Given the description of an element on the screen output the (x, y) to click on. 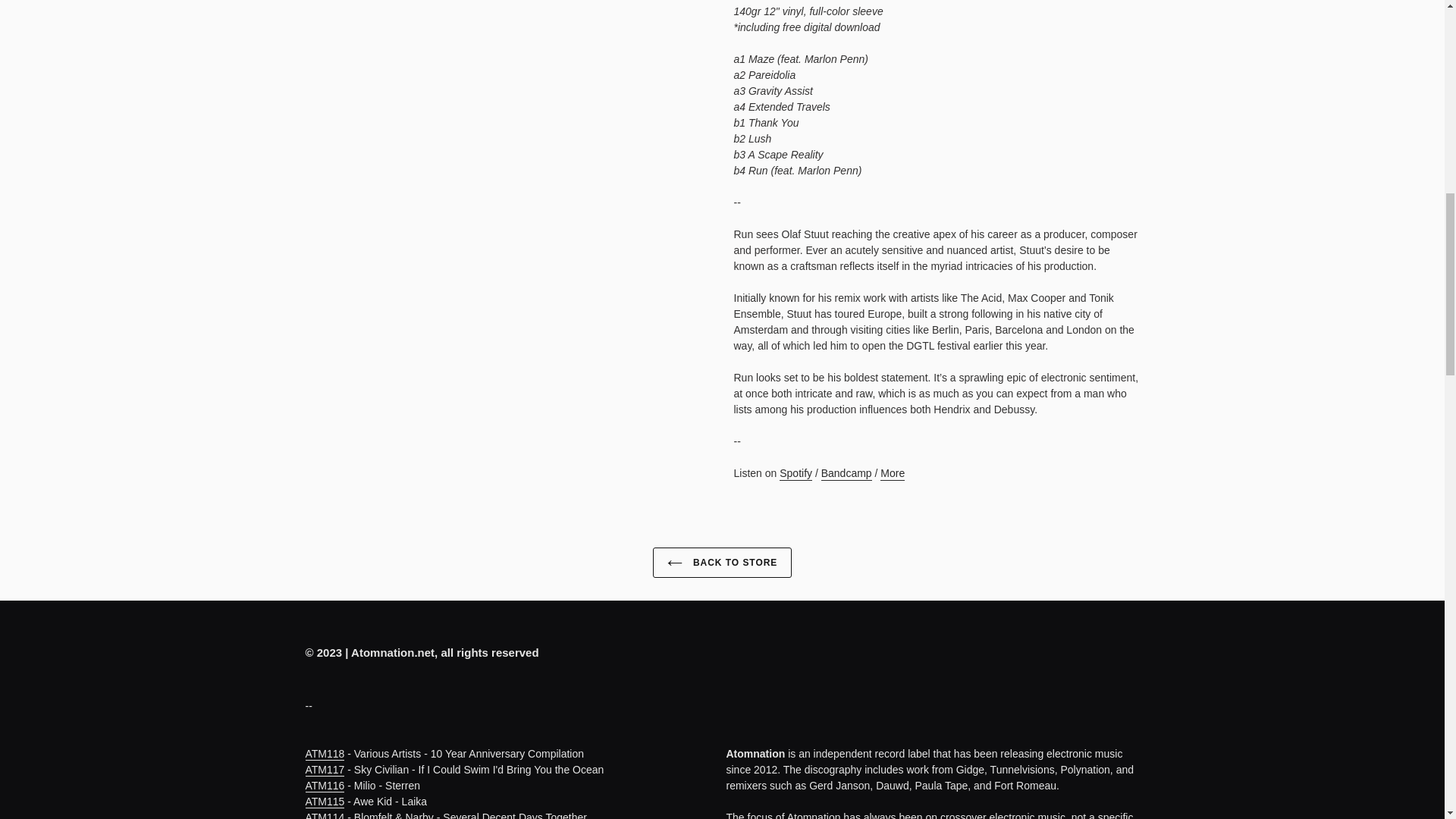
Bandcamp (846, 473)
ATM114 (323, 815)
ATM117 (323, 769)
ATM116 (323, 785)
More (965, 489)
Spotify (795, 473)
ATM118 (323, 753)
BACK TO STORE (722, 562)
ATM115 (323, 801)
